Given the description of an element on the screen output the (x, y) to click on. 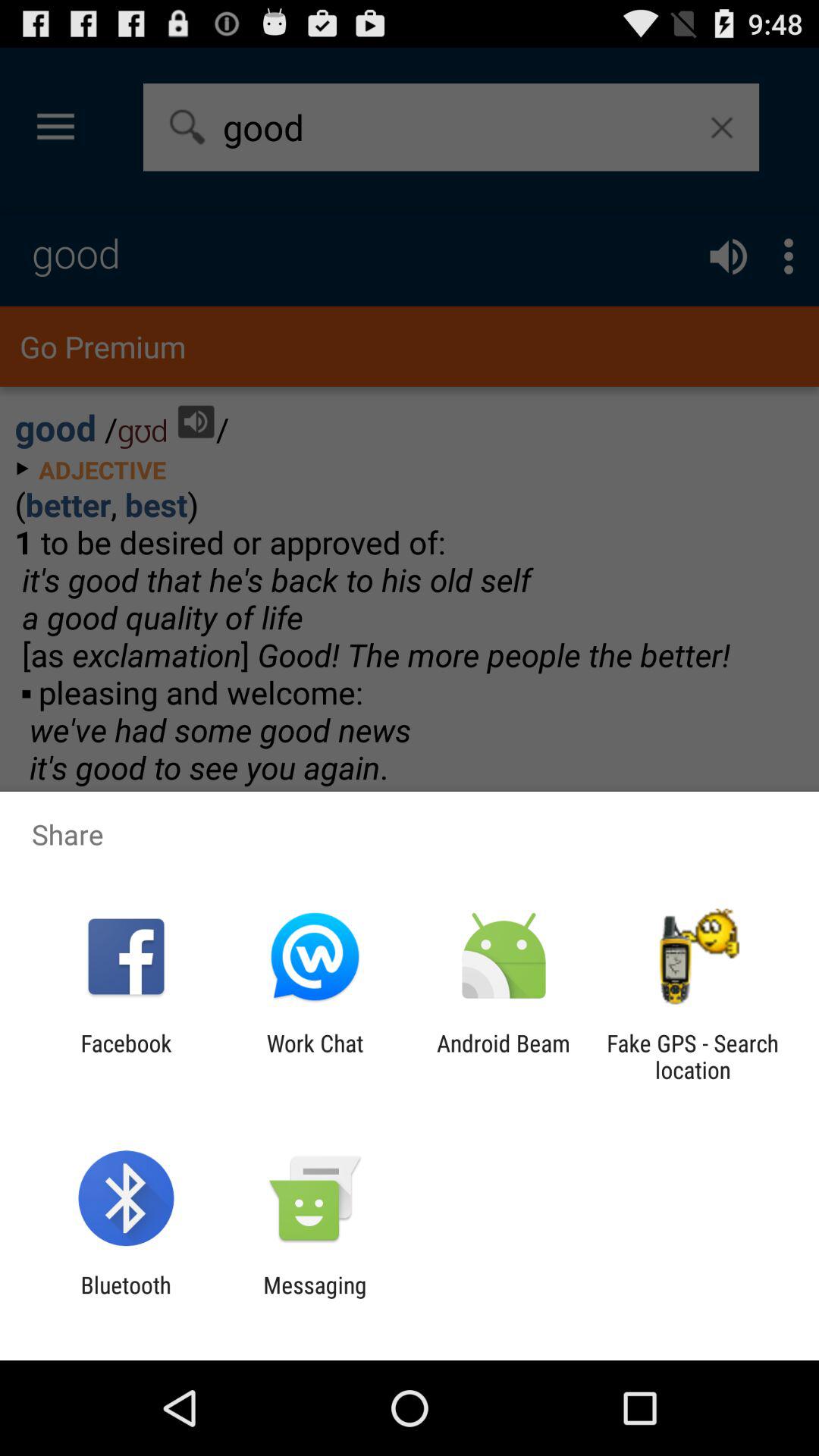
tap icon to the right of bluetooth (314, 1298)
